Given the description of an element on the screen output the (x, y) to click on. 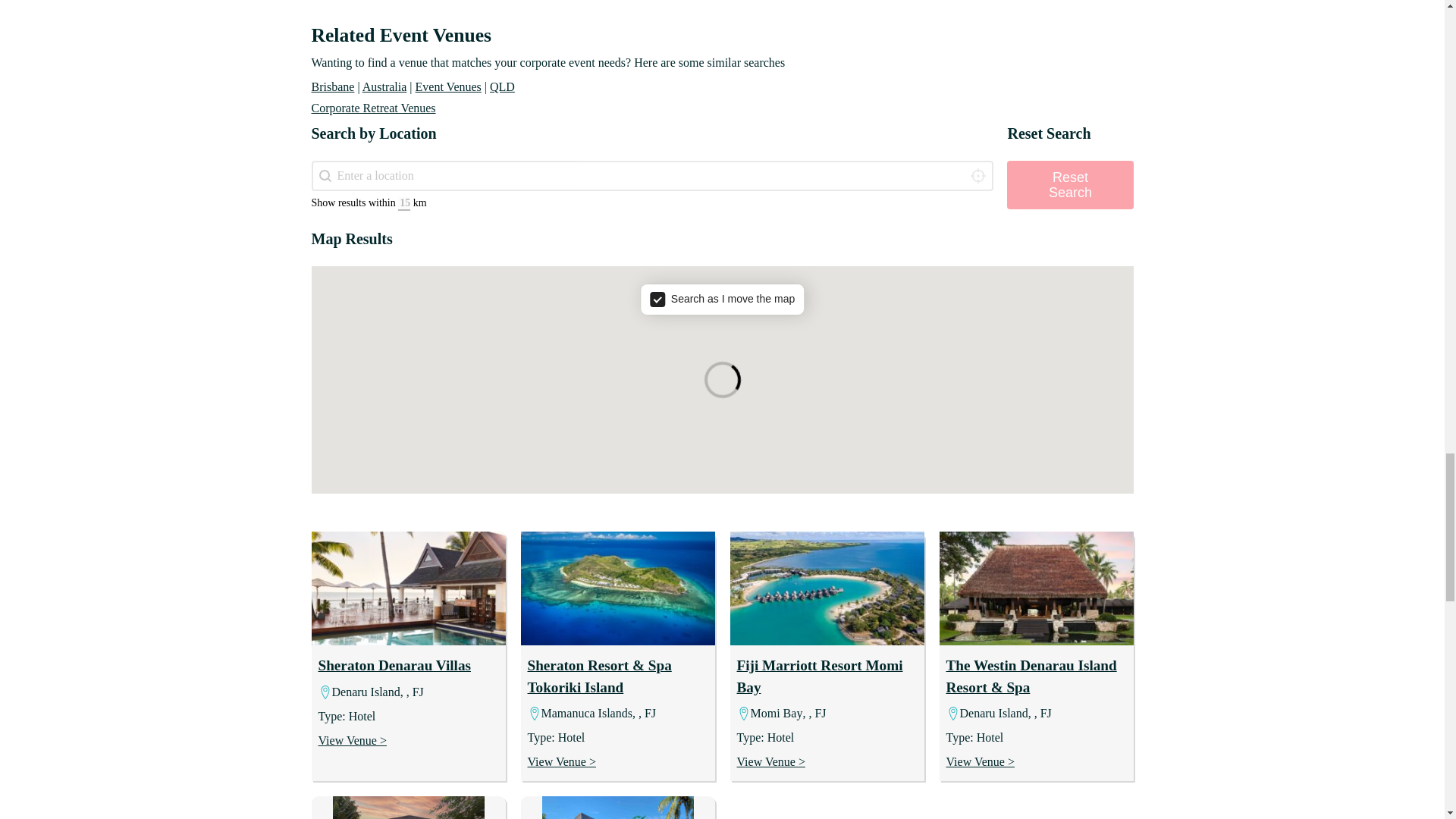
Reset Search (1069, 184)
QLD (502, 86)
Locate Me (977, 175)
Sheraton Denarau Villas (394, 665)
Brisbane (332, 86)
Fiji Marriott Resort Momi Bay (819, 676)
on (721, 299)
Event Venues (447, 86)
Australia (384, 86)
15 (403, 203)
Corporate Retreat Venues (373, 108)
